Given the description of an element on the screen output the (x, y) to click on. 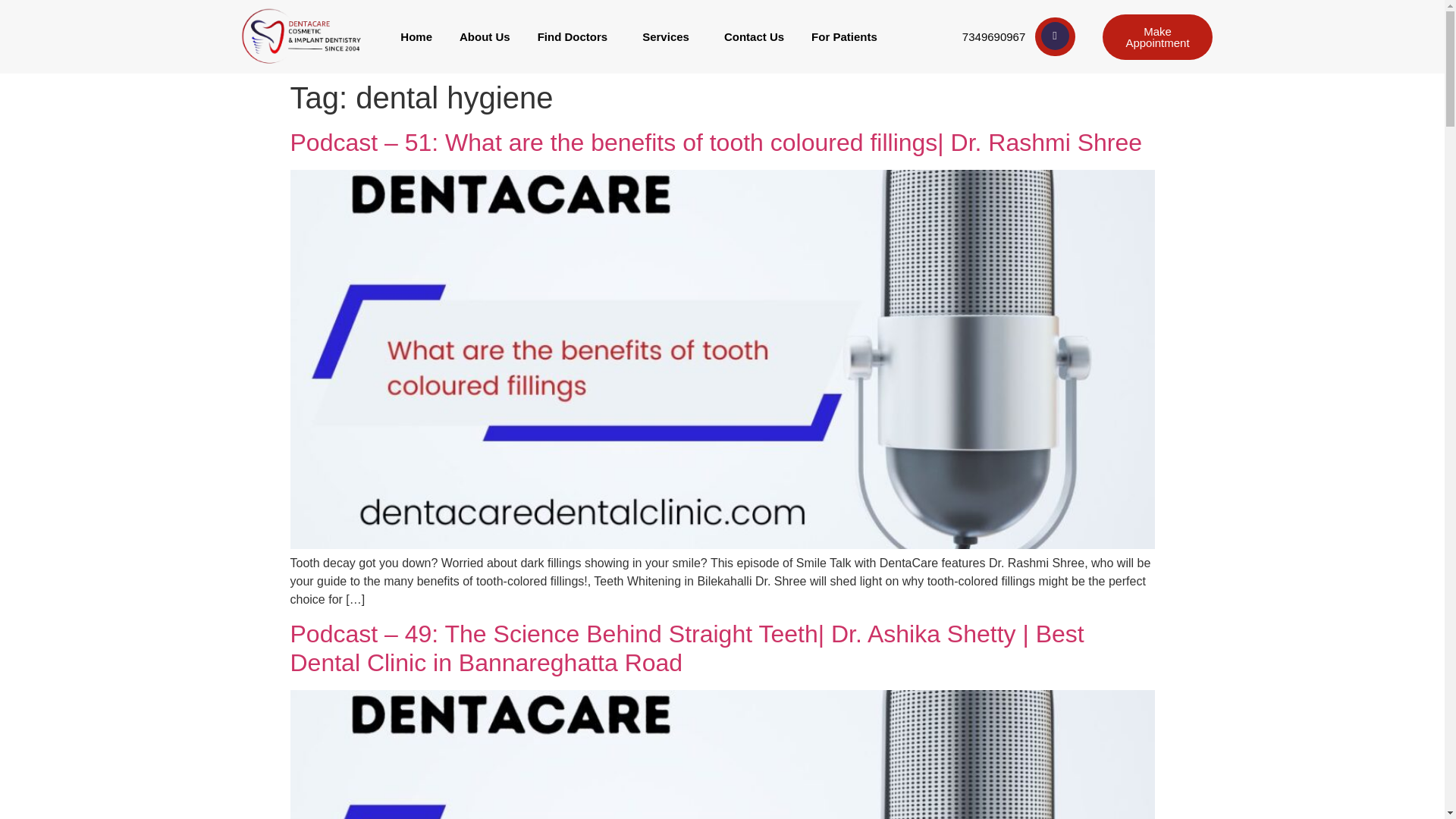
Services (669, 37)
Make Appointment (1156, 36)
About Us (484, 37)
Contact Us (753, 37)
Find Doctors (576, 37)
For Patients (847, 37)
